Given the description of an element on the screen output the (x, y) to click on. 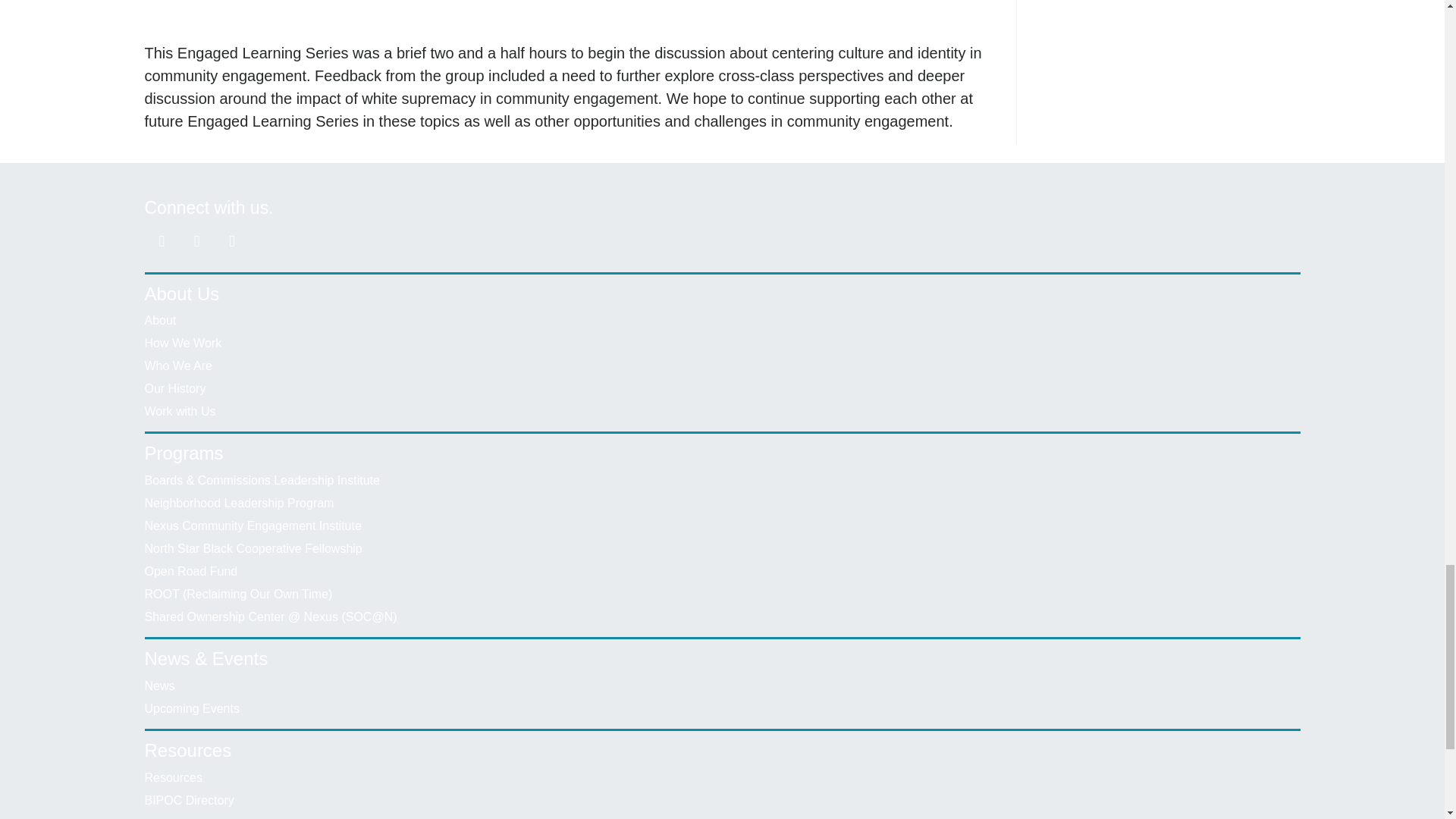
How We Work (182, 342)
Who We Are (178, 365)
About (160, 319)
